Given the description of an element on the screen output the (x, y) to click on. 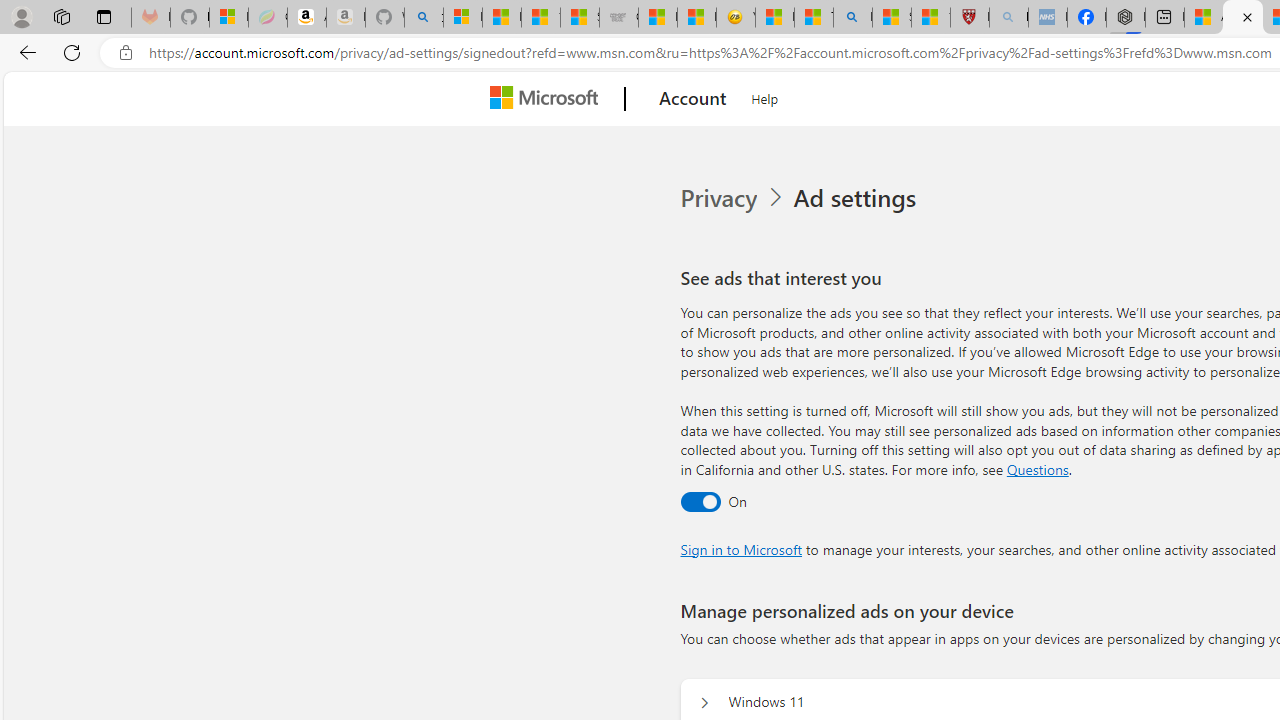
Combat Siege (618, 17)
12 Popular Science Lies that Must be Corrected (930, 17)
Account (692, 99)
Bing (852, 17)
Robert H. Shmerling, MD - Harvard Health (970, 17)
